Given the description of an element on the screen output the (x, y) to click on. 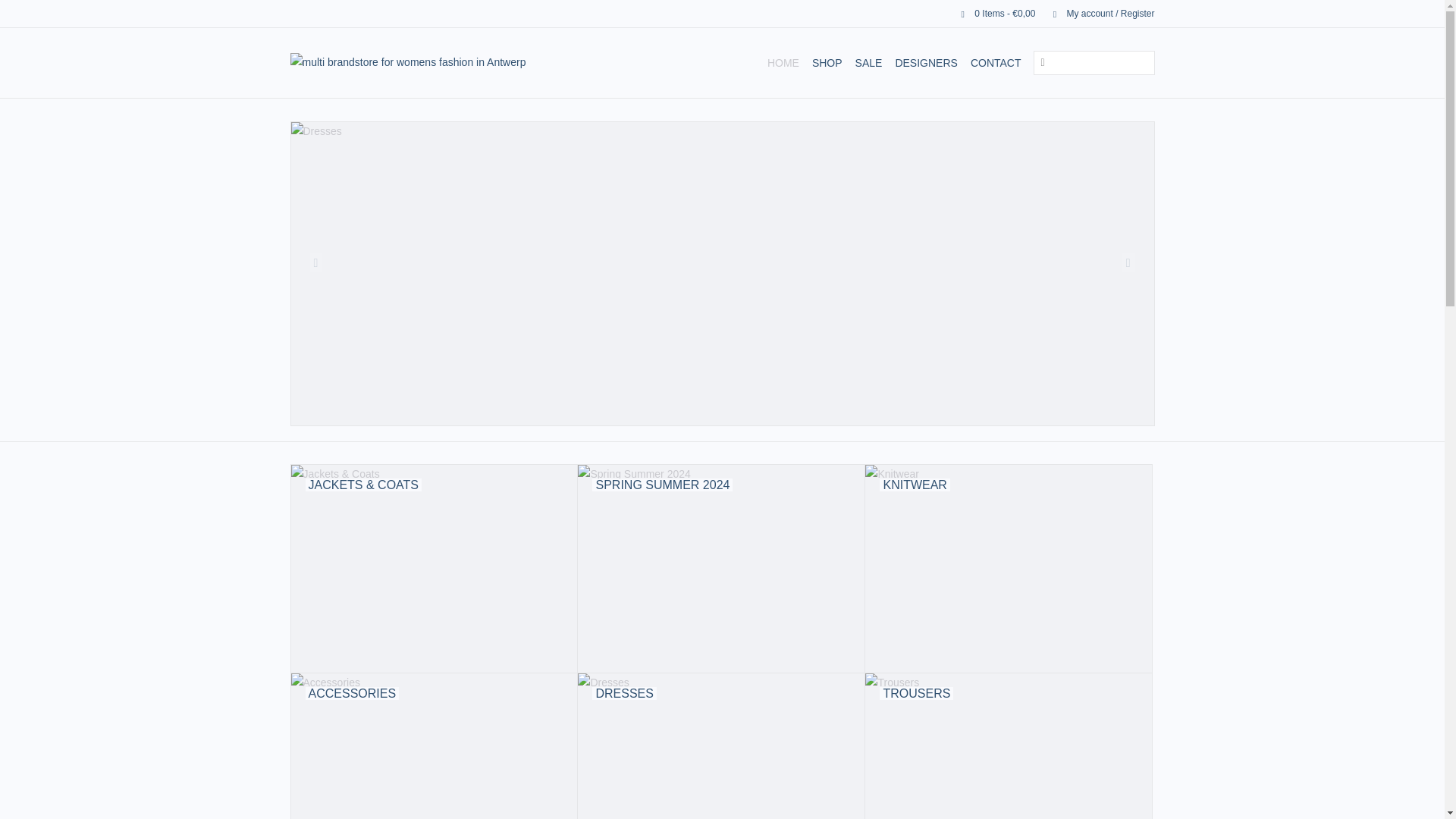
DESIGNERS (924, 62)
Cart (992, 13)
SALE (868, 62)
SHOP (827, 62)
My account (1096, 13)
Shop (827, 62)
multi brandstore for womens fashion in Antwerp (451, 62)
HOME (782, 62)
Search (1041, 63)
